Given the description of an element on the screen output the (x, y) to click on. 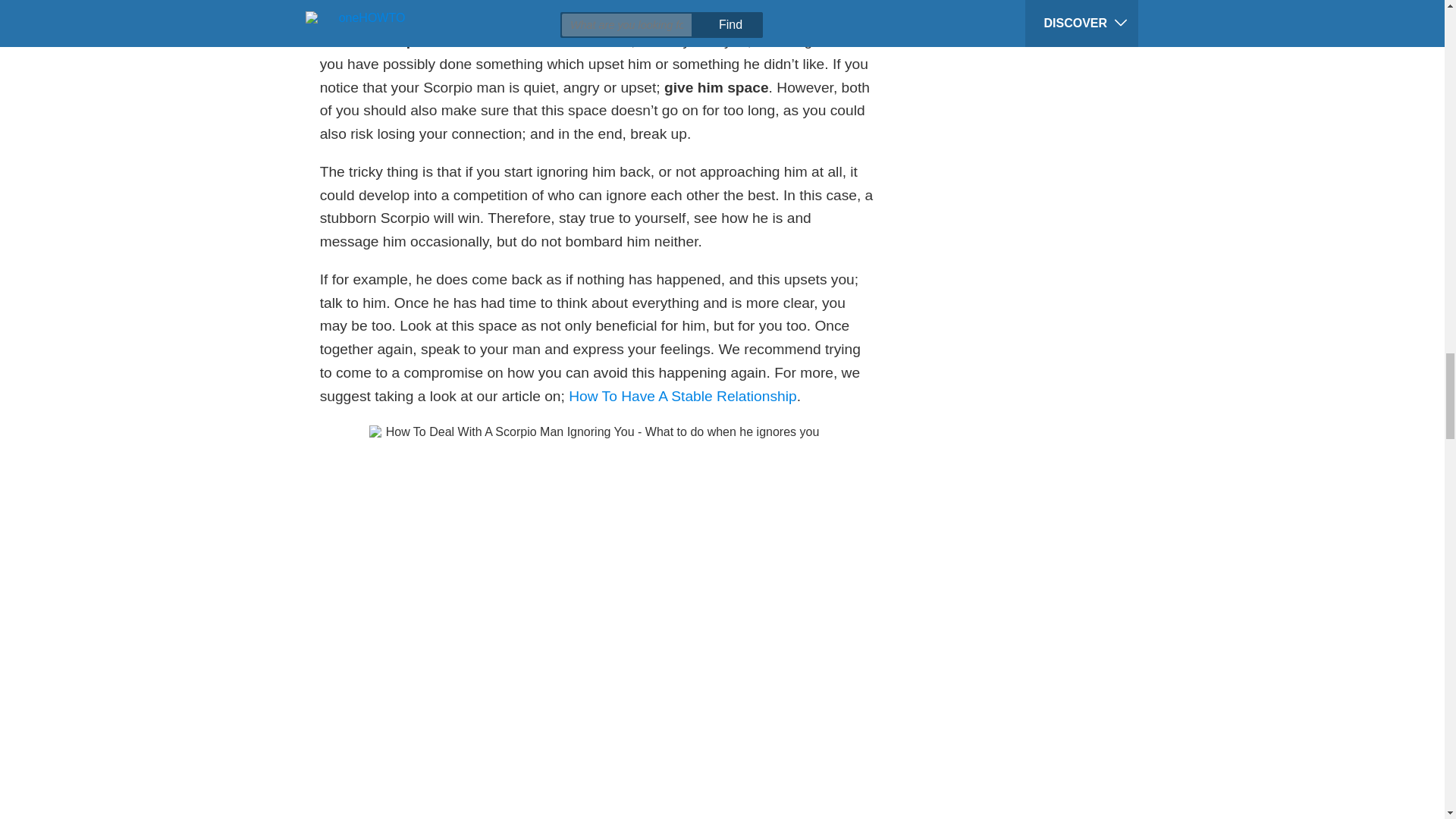
How To Have A Stable Relationship (682, 396)
